Given the description of an element on the screen output the (x, y) to click on. 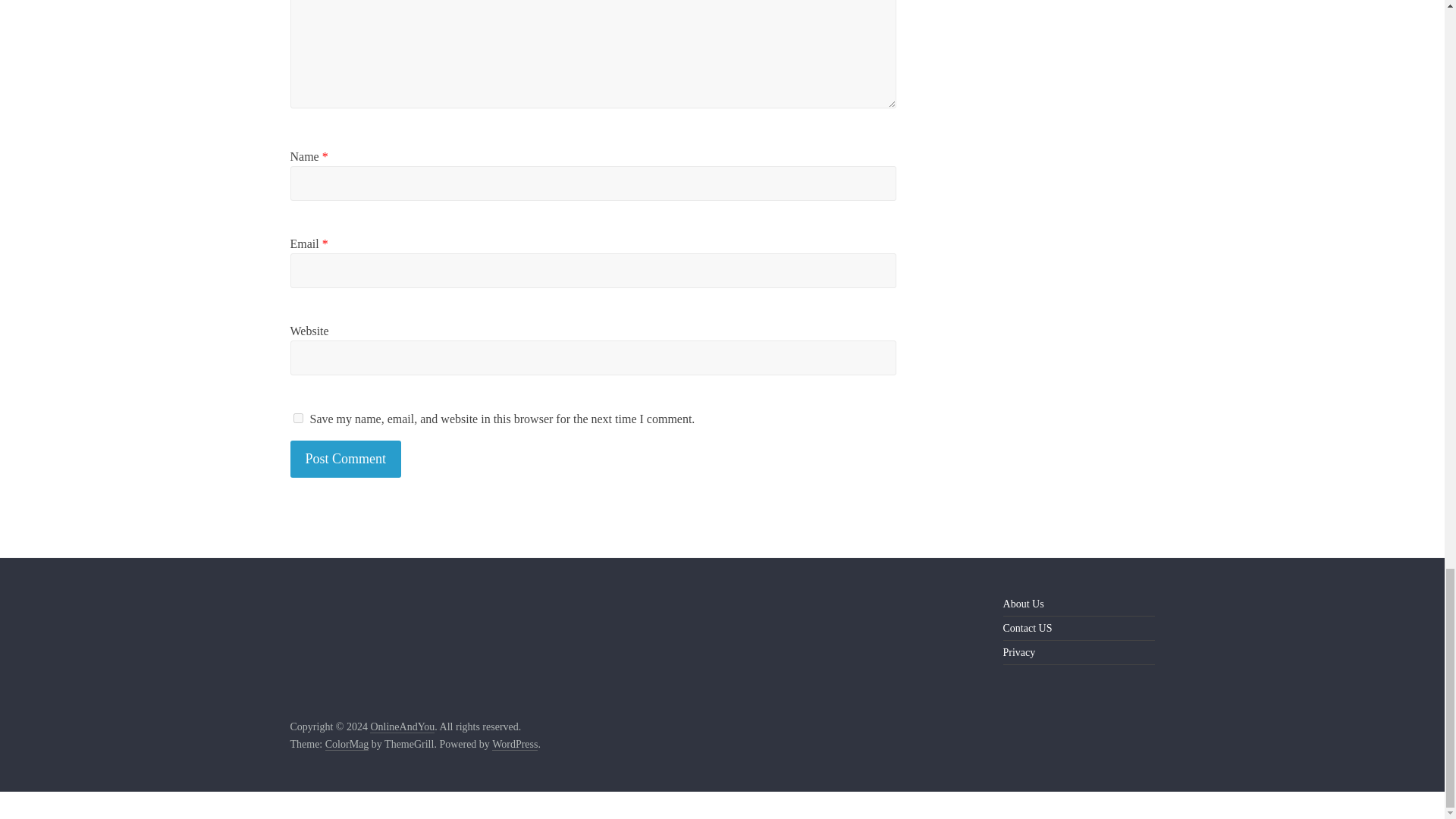
Post Comment (345, 458)
yes (297, 418)
